Given the description of an element on the screen output the (x, y) to click on. 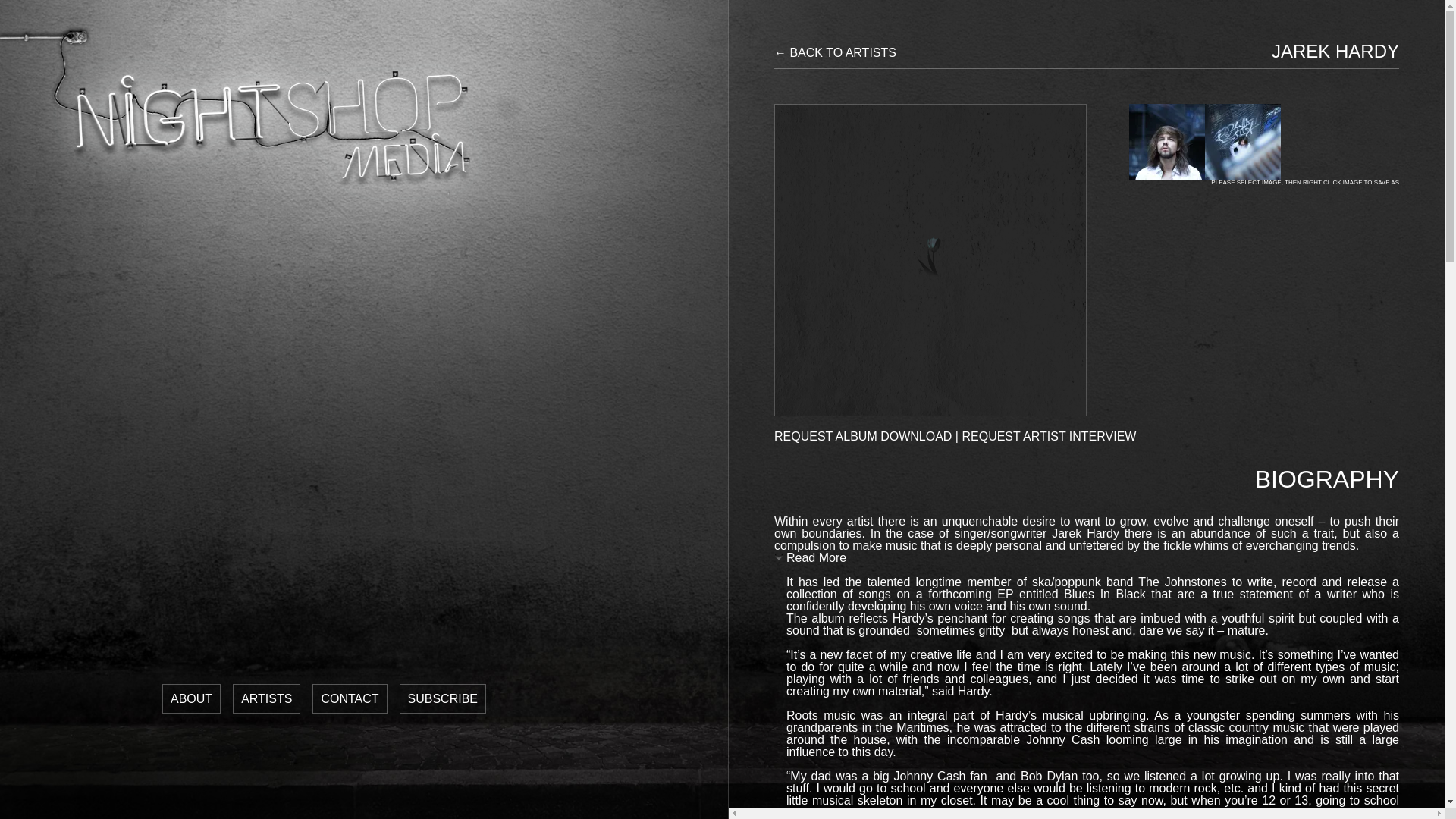
SUBSCRIBE (442, 698)
ABOUT (191, 698)
ARTISTS (265, 698)
REQUEST ARTIST INTERVIEW (1047, 436)
CONTACT (350, 698)
Read More (809, 561)
